Given the description of an element on the screen output the (x, y) to click on. 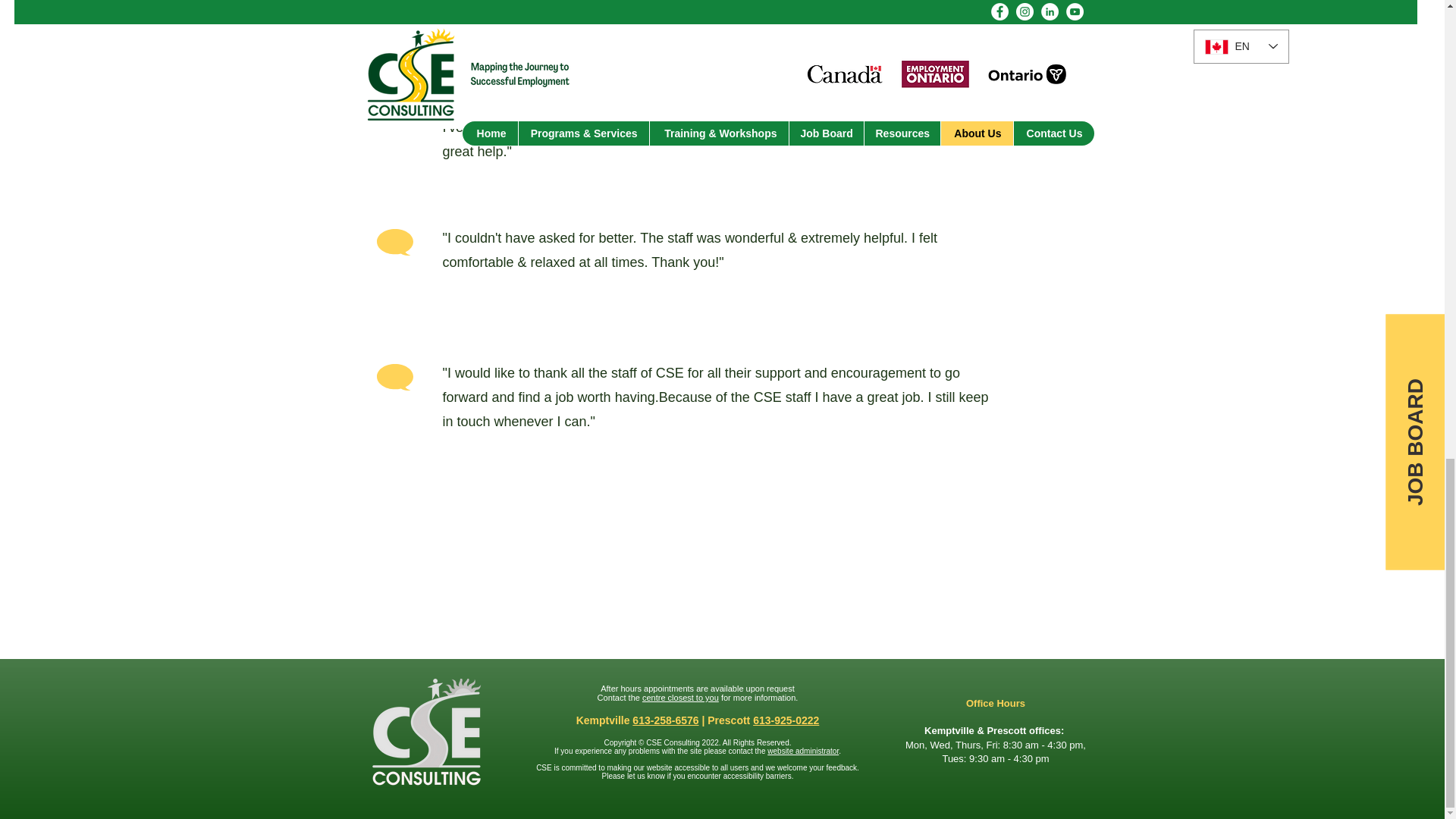
website administrator (802, 750)
613-258-6576 (664, 720)
613-925-0222 (785, 720)
centre closest to you (680, 696)
